Given the description of an element on the screen output the (x, y) to click on. 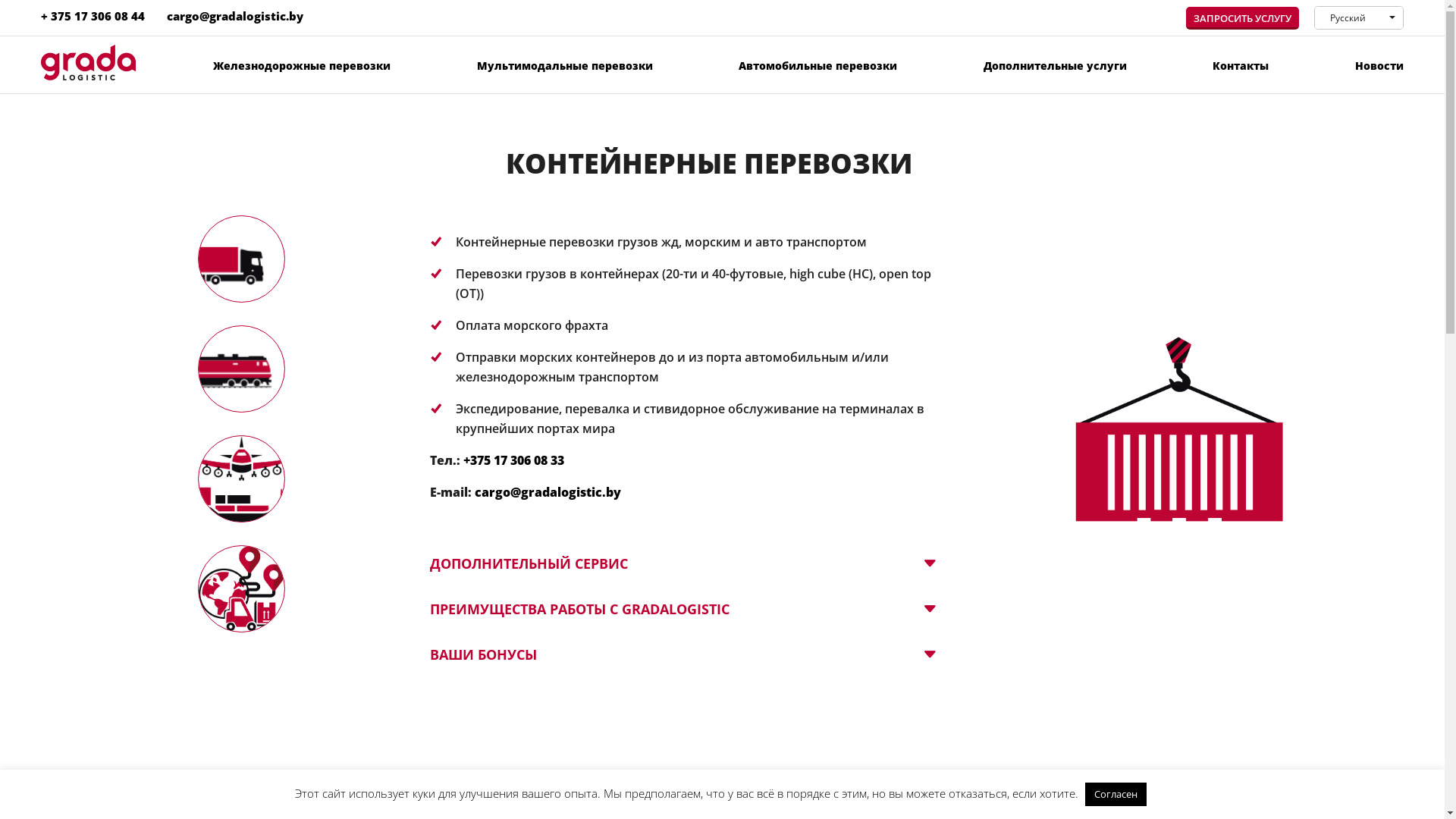
cargo@gradalogistic.by Element type: text (234, 15)
+ 375 17 306 08 44 Element type: text (92, 15)
+375 17 306 08 33 Element type: text (513, 459)
cargo@gradalogistic.by Element type: text (547, 491)
